Given the description of an element on the screen output the (x, y) to click on. 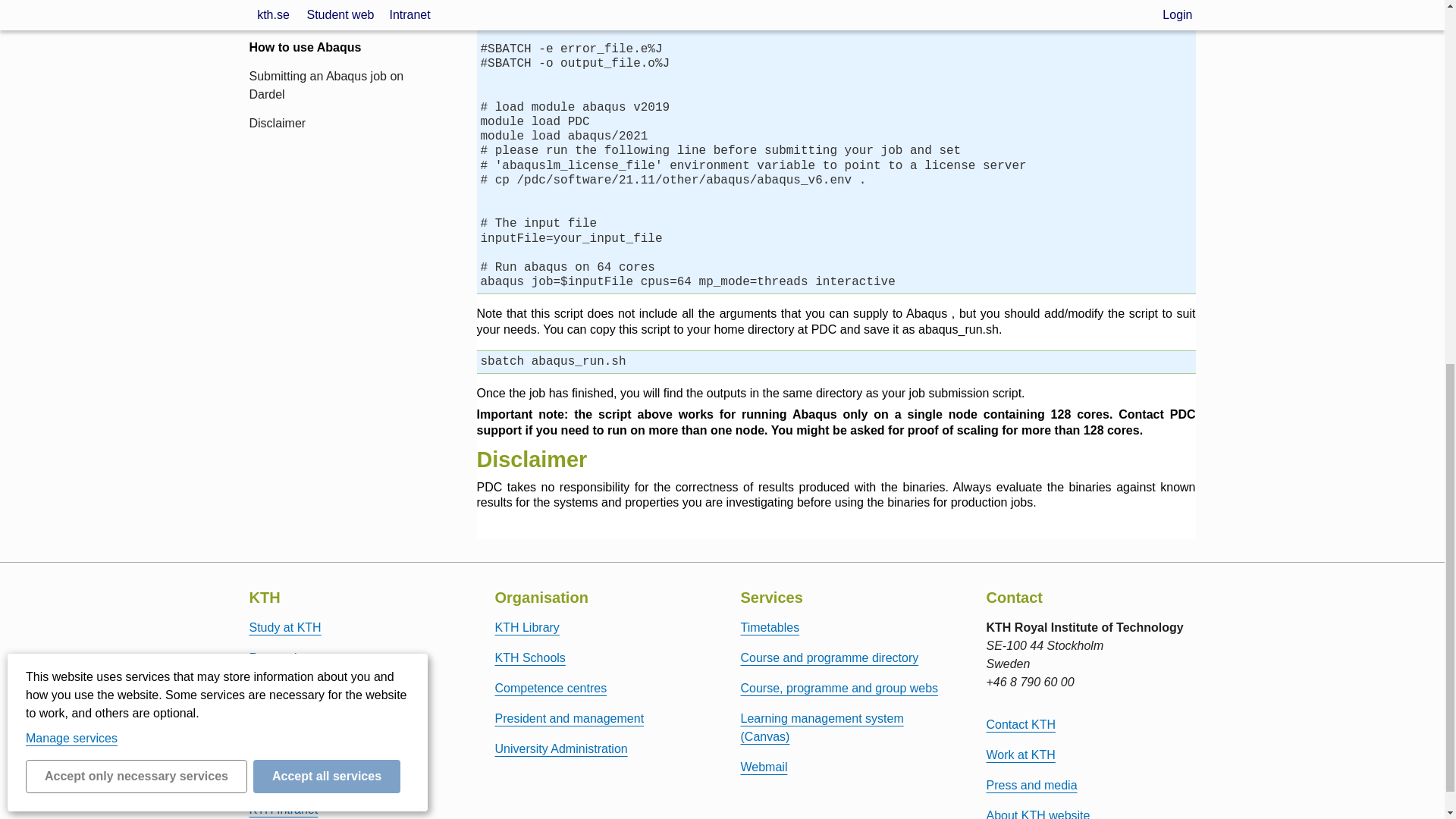
Accept all services (326, 100)
Manage services (71, 62)
Accept only necessary services (136, 100)
